Given the description of an element on the screen output the (x, y) to click on. 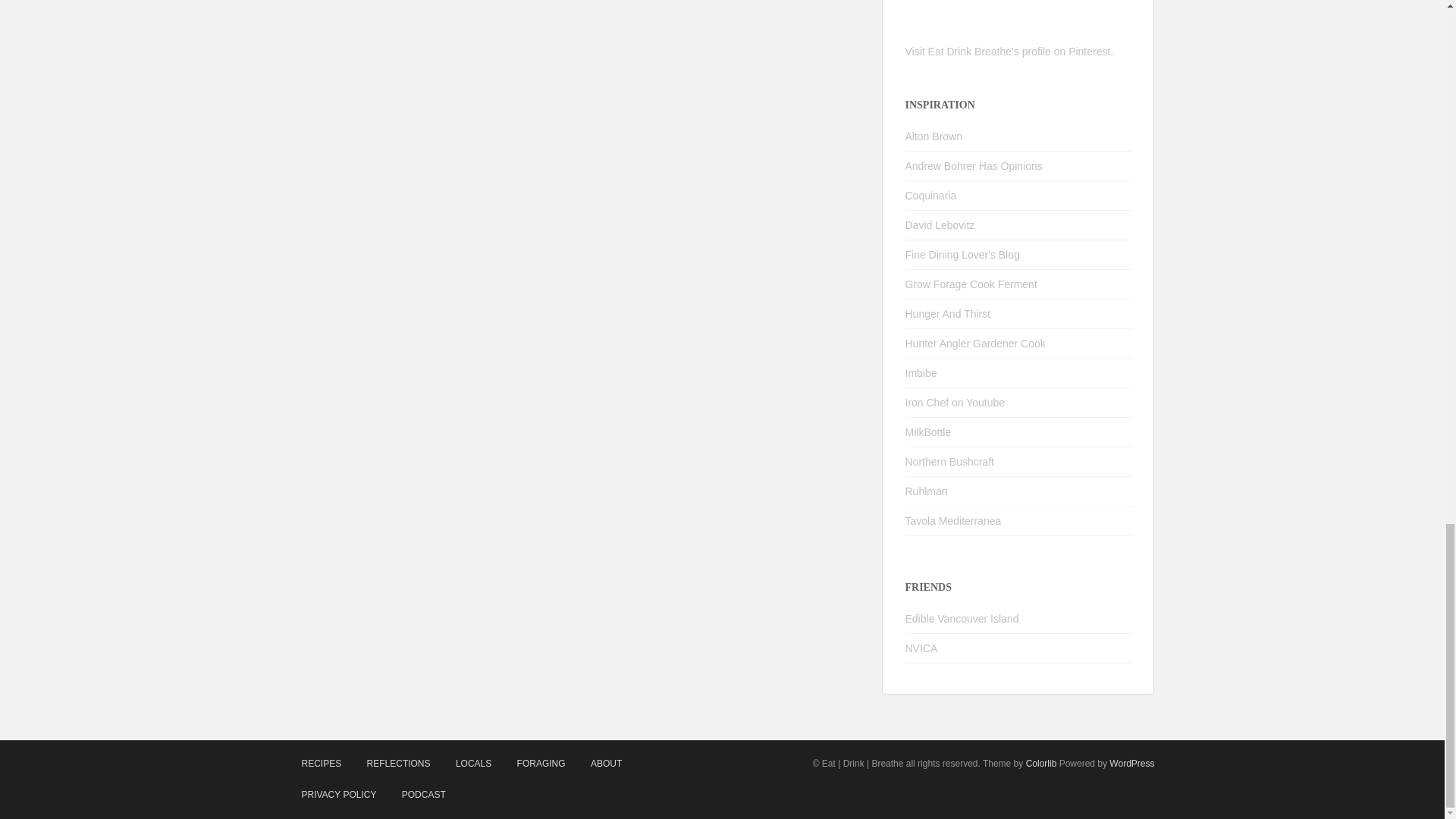
Visit Eat Drink Breathe's profile on Pinterest. (1009, 51)
What? You dont know who Alton Brown is? (933, 136)
Hunter Angler Gardener Cook (975, 343)
Original recipes from Paris (940, 224)
Imbibe Magazine (921, 372)
Foraging in the Pacific Northwest (949, 461)
Grow Forage Cook Ferment (970, 284)
Foraging, feasting, and adventure in the Rocky Mountains. (948, 313)
